Given the description of an element on the screen output the (x, y) to click on. 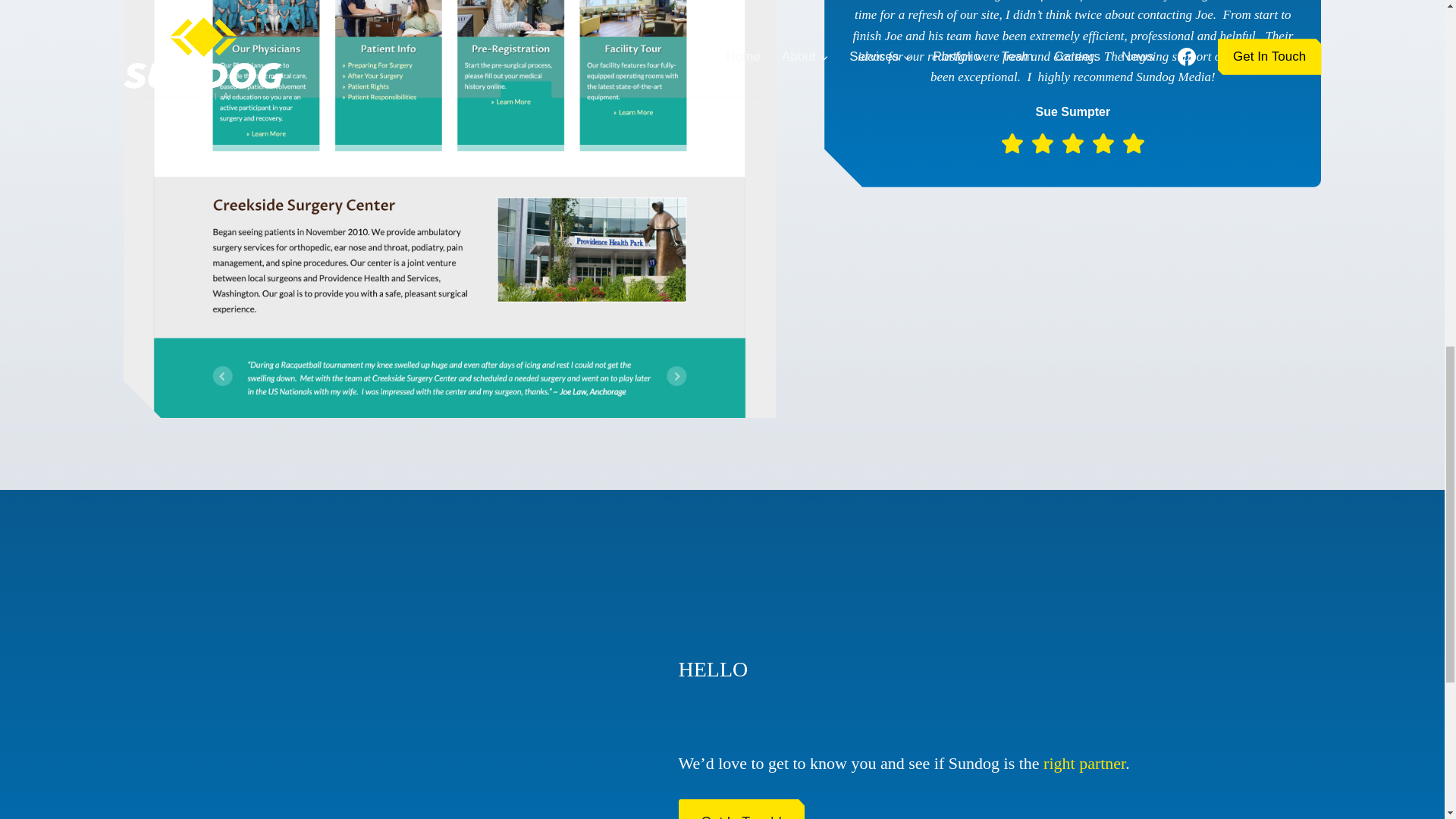
Get In Touch! (741, 809)
right partner (1084, 763)
